Given the description of an element on the screen output the (x, y) to click on. 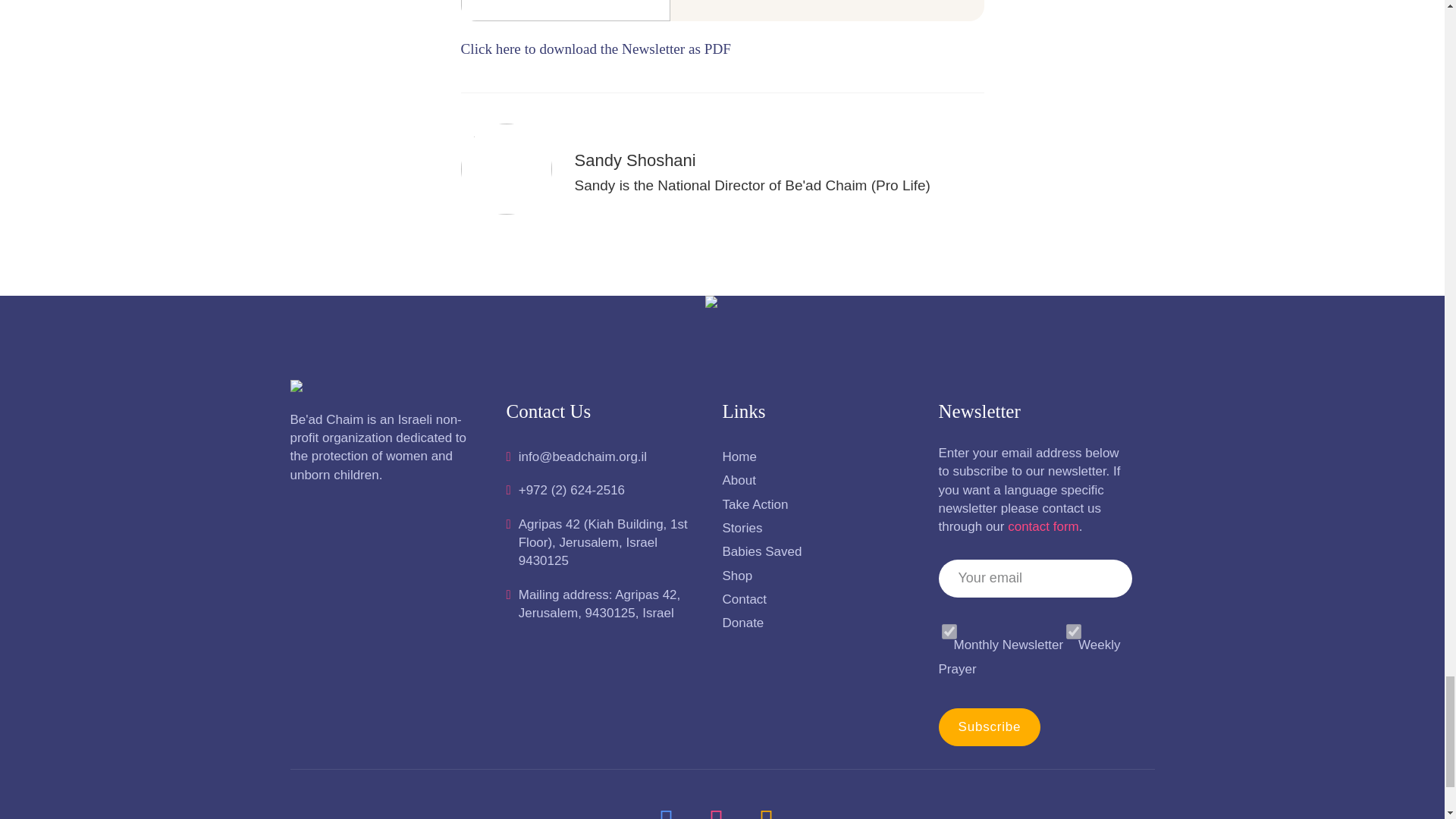
Contact (818, 599)
Stories (818, 528)
Take Action (818, 505)
Babies Saved (818, 551)
About (818, 480)
Donate (818, 623)
contact form (1042, 526)
Mailing address: Agripas 42, Jerusalem, 9430125, Israel (603, 604)
Subscribe (990, 727)
Click here to download the Newsletter as PDF (596, 48)
